Given the description of an element on the screen output the (x, y) to click on. 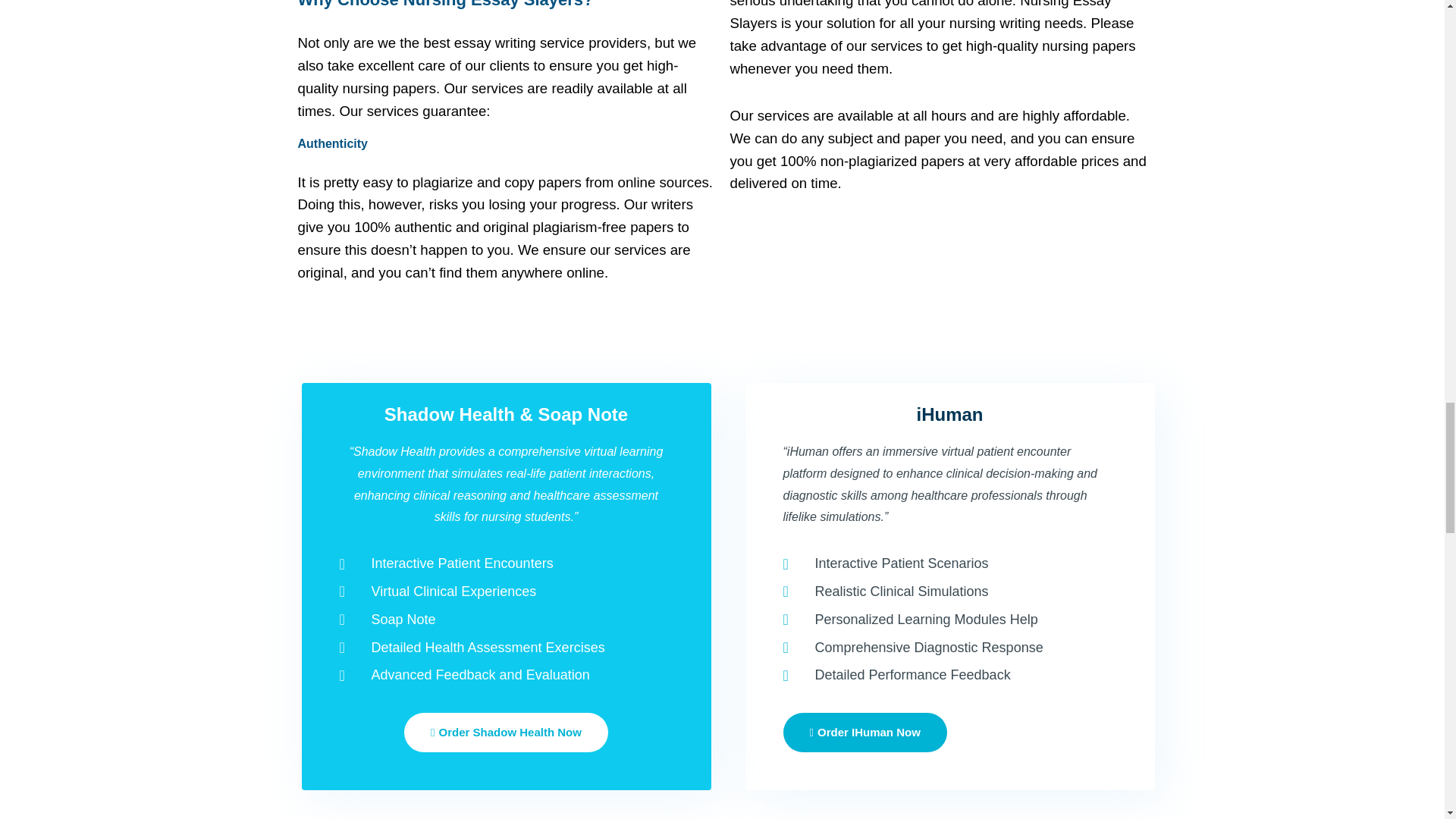
Order Shadow Health Now (506, 732)
Order IHuman Now (864, 732)
